Given the description of an element on the screen output the (x, y) to click on. 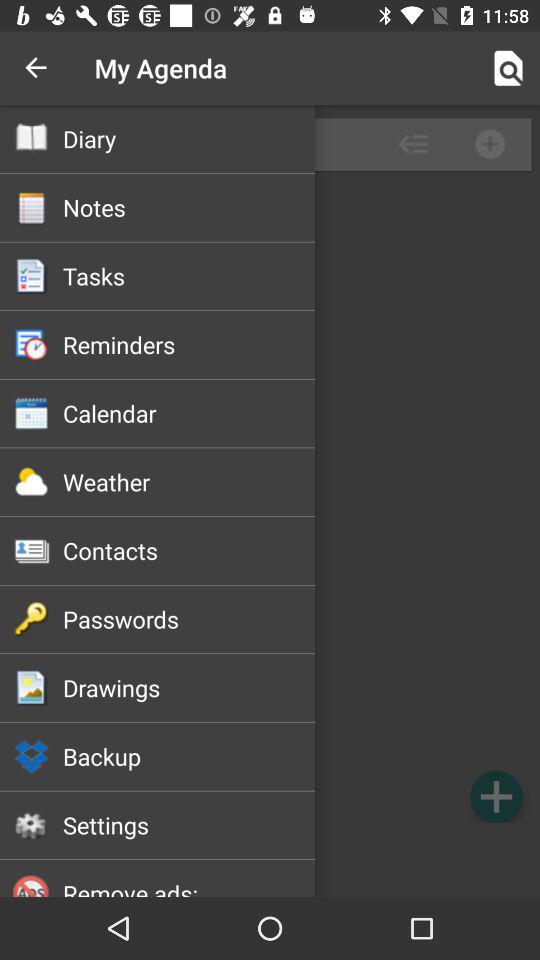
launch the drawings (188, 687)
